Given the description of an element on the screen output the (x, y) to click on. 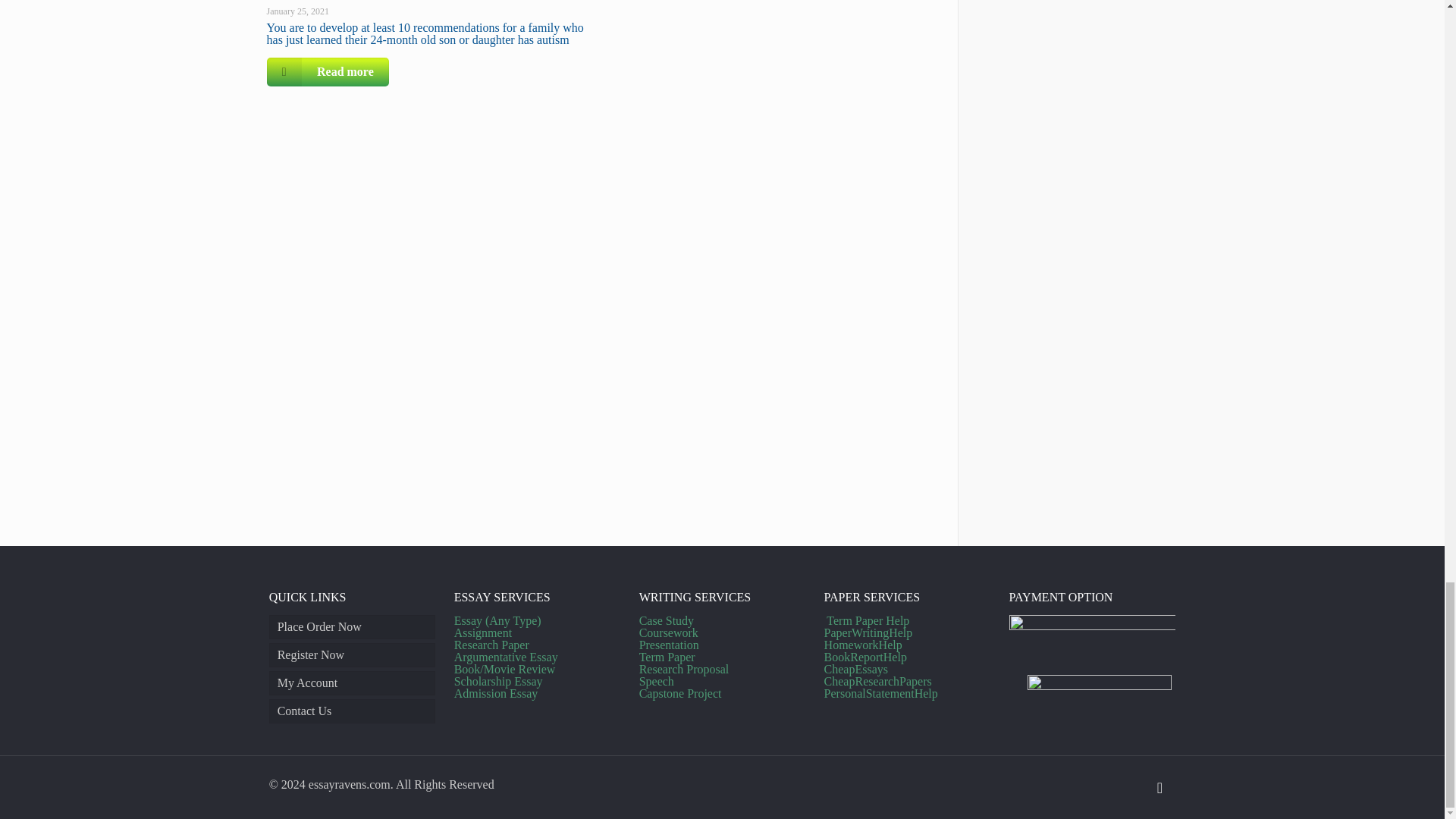
Contact Us (352, 711)
Register Now (352, 654)
Argumentative Essay (505, 656)
Assignment (483, 632)
My Account (352, 682)
Place Order Now (352, 627)
Read more (327, 71)
Research Paper (491, 644)
